Given the description of an element on the screen output the (x, y) to click on. 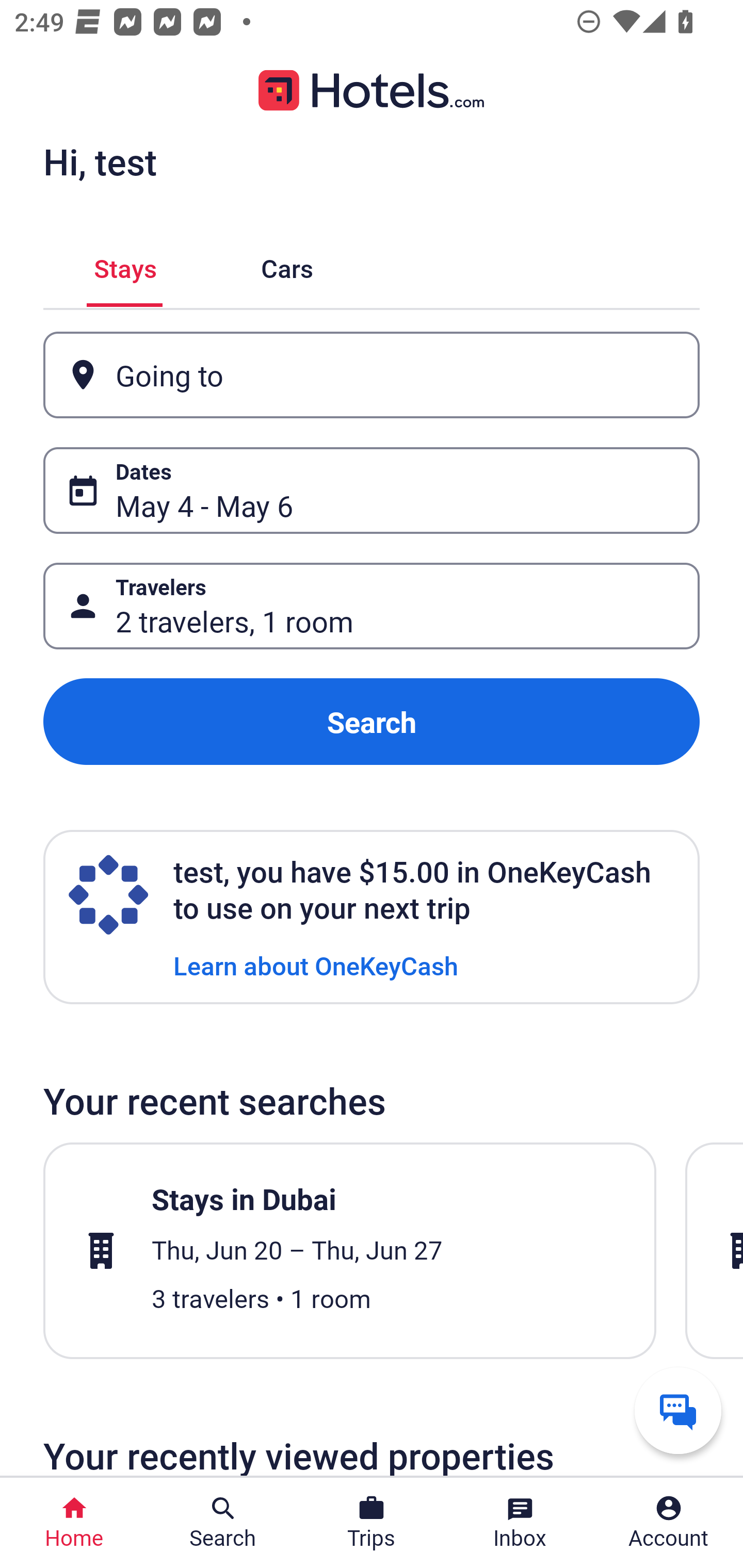
Hi, test (99, 161)
Cars (286, 265)
Going to Button (371, 375)
Dates Button May 4 - May 6 (371, 489)
Travelers Button 2 travelers, 1 room (371, 605)
Search (371, 721)
Learn about OneKeyCash Learn about OneKeyCash Link (315, 964)
Get help from a virtual agent (677, 1410)
Search Search Button (222, 1522)
Trips Trips Button (371, 1522)
Inbox Inbox Button (519, 1522)
Account Profile. Button (668, 1522)
